Given the description of an element on the screen output the (x, y) to click on. 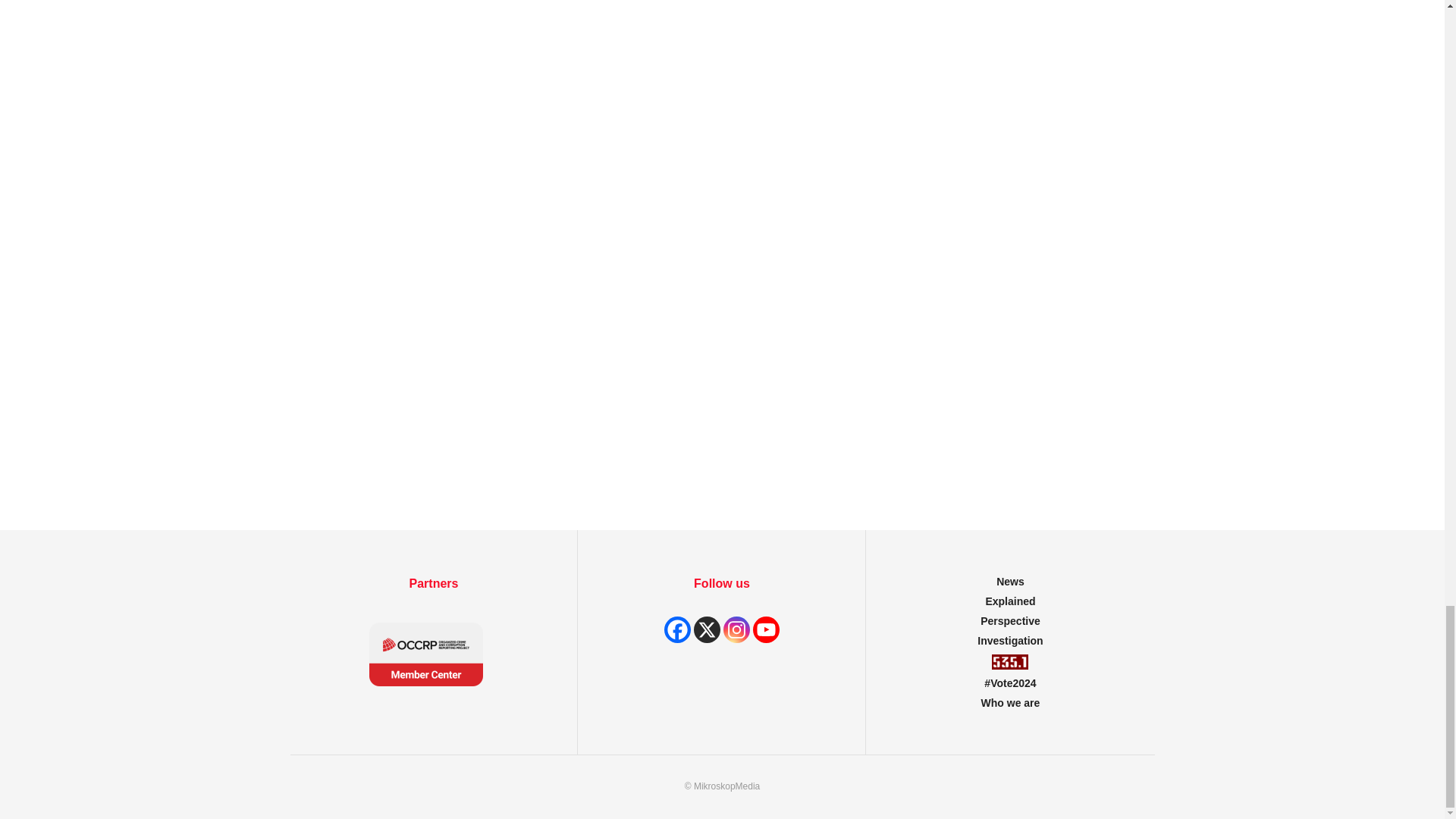
X (707, 629)
Facebook (676, 629)
Youtube (765, 629)
Instagram (736, 629)
